Given the description of an element on the screen output the (x, y) to click on. 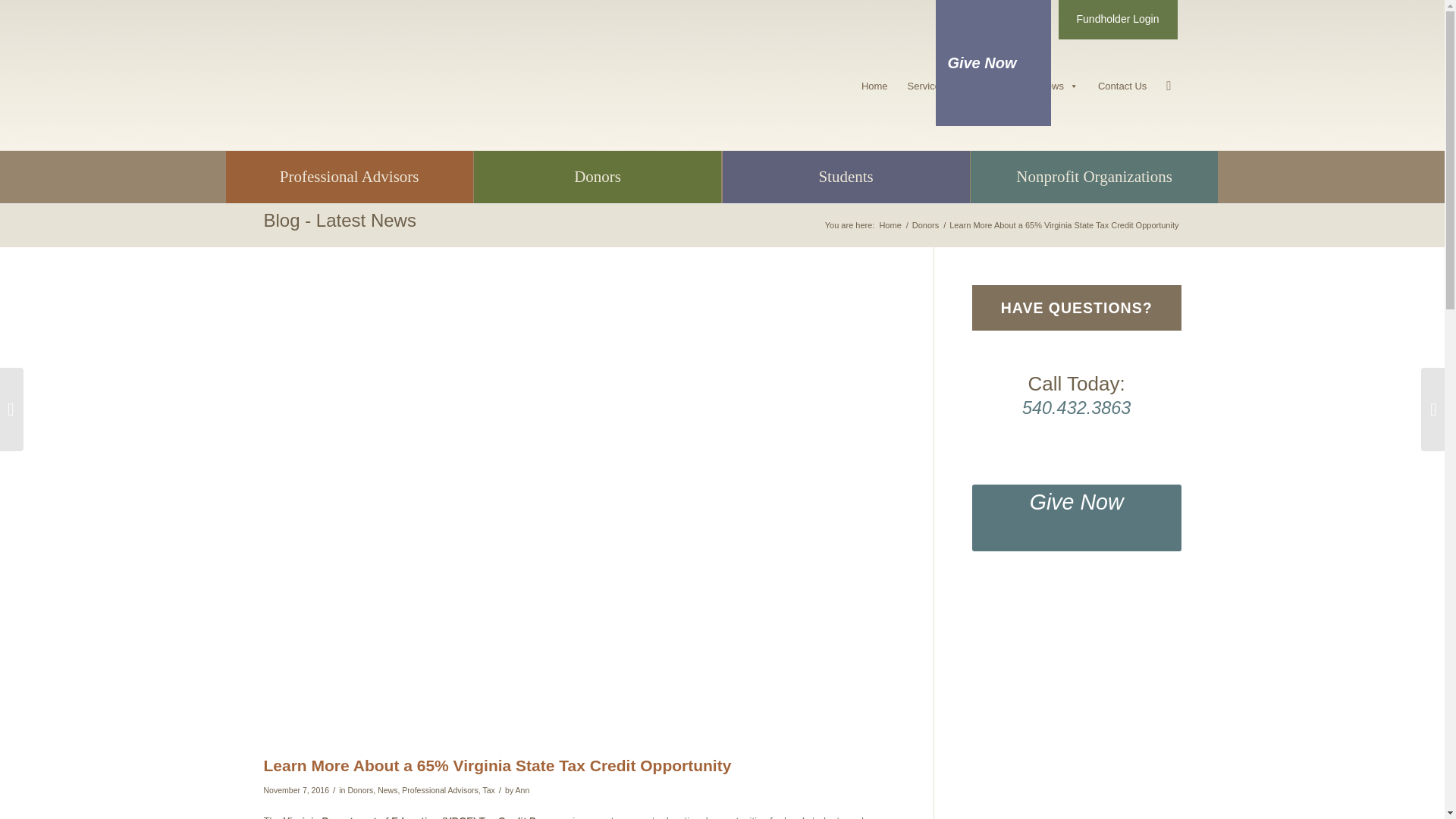
The Community Foundation (889, 225)
Posts by Ann (522, 789)
Permanent Link: Blog - Latest News (339, 219)
Fundholder Login (1117, 19)
Give Now (992, 63)
